Given the description of an element on the screen output the (x, y) to click on. 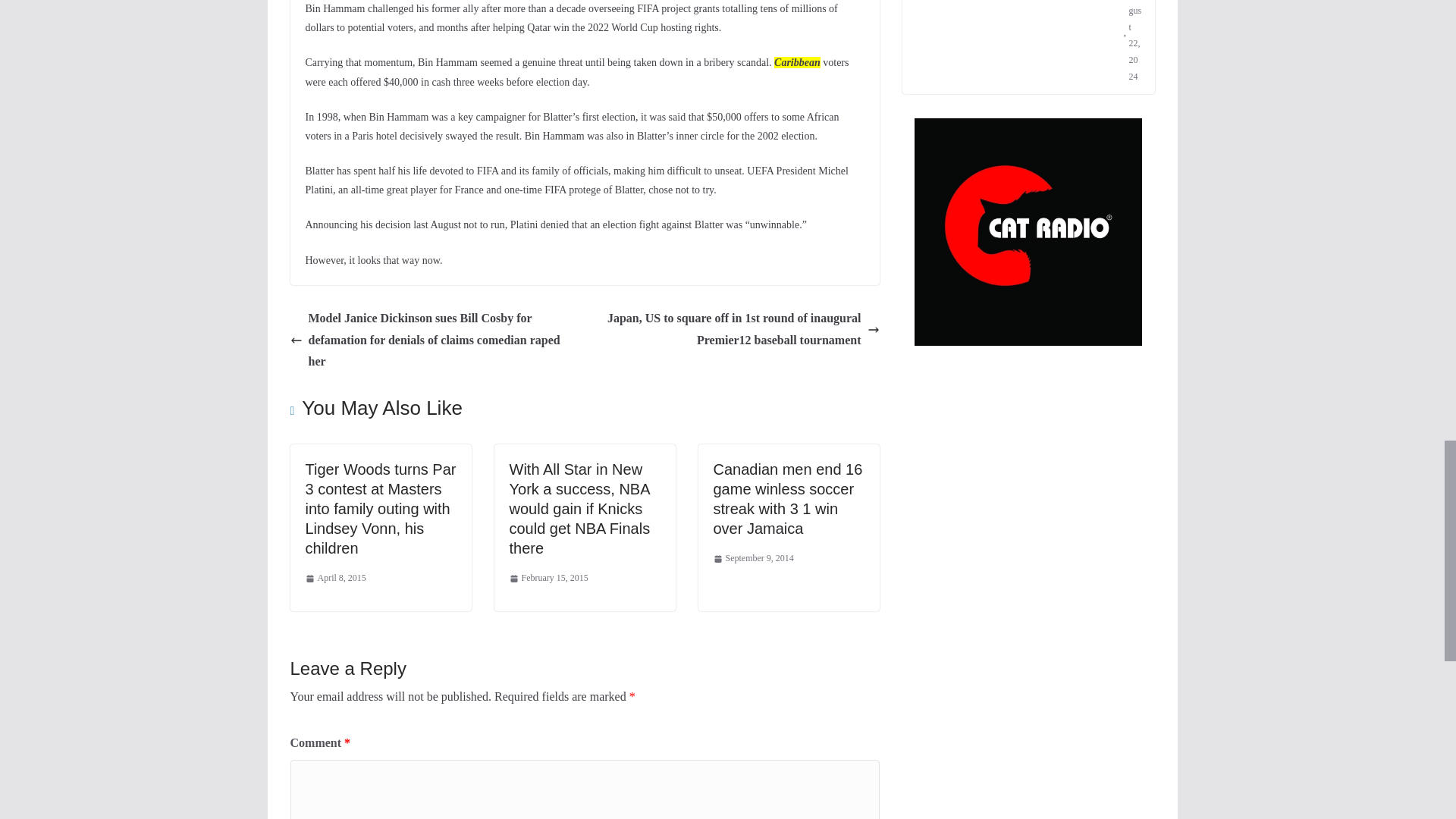
April 8, 2015 (334, 578)
February 15, 2015 (548, 578)
5:51 pm (548, 578)
9:32 pm (334, 578)
